Given the description of an element on the screen output the (x, y) to click on. 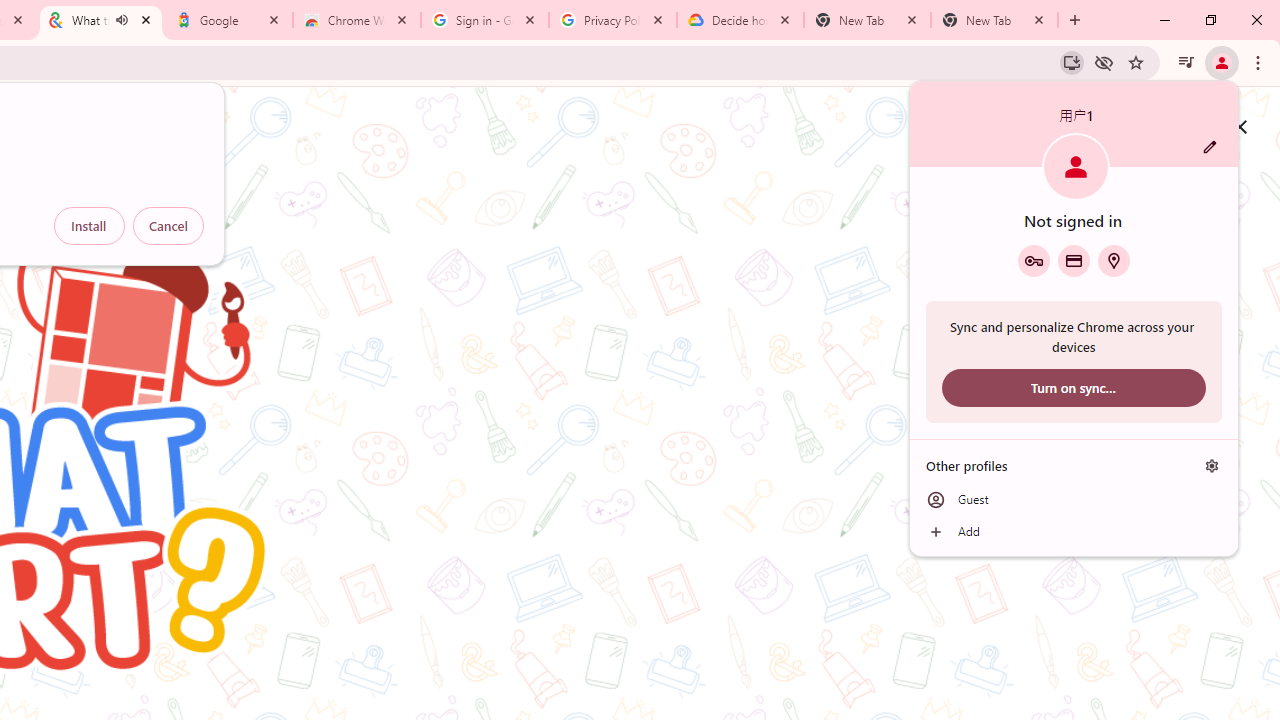
Guest (1073, 499)
Google (229, 20)
Cancel (168, 225)
Chrome Web Store - Color themes by Chrome (357, 20)
Sign in - Google Accounts (485, 20)
Manage profiles (1211, 465)
Install (89, 225)
Install Google Arts & Culture (1071, 62)
